Given the description of an element on the screen output the (x, y) to click on. 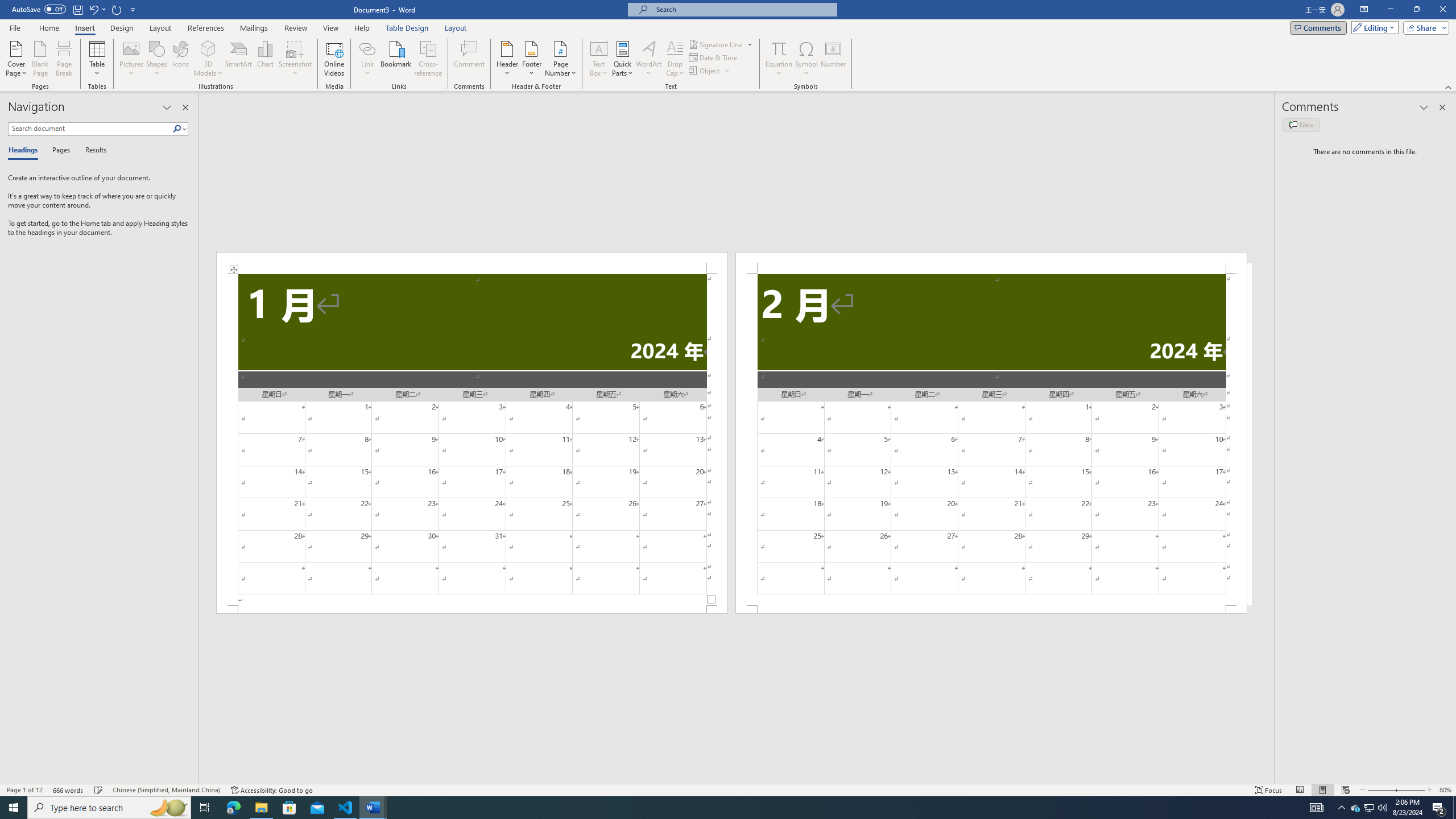
3D Models (208, 58)
More Options (778, 68)
Task Pane Options (167, 107)
Drop Cap (674, 58)
Page Break (63, 58)
Class: MsoCommandBar (728, 789)
Header (507, 58)
Results (91, 150)
System (6, 6)
Repeat Doc Close (117, 9)
Pictures (131, 58)
Undo Increase Indent (92, 9)
Pages (59, 150)
